Given the description of an element on the screen output the (x, y) to click on. 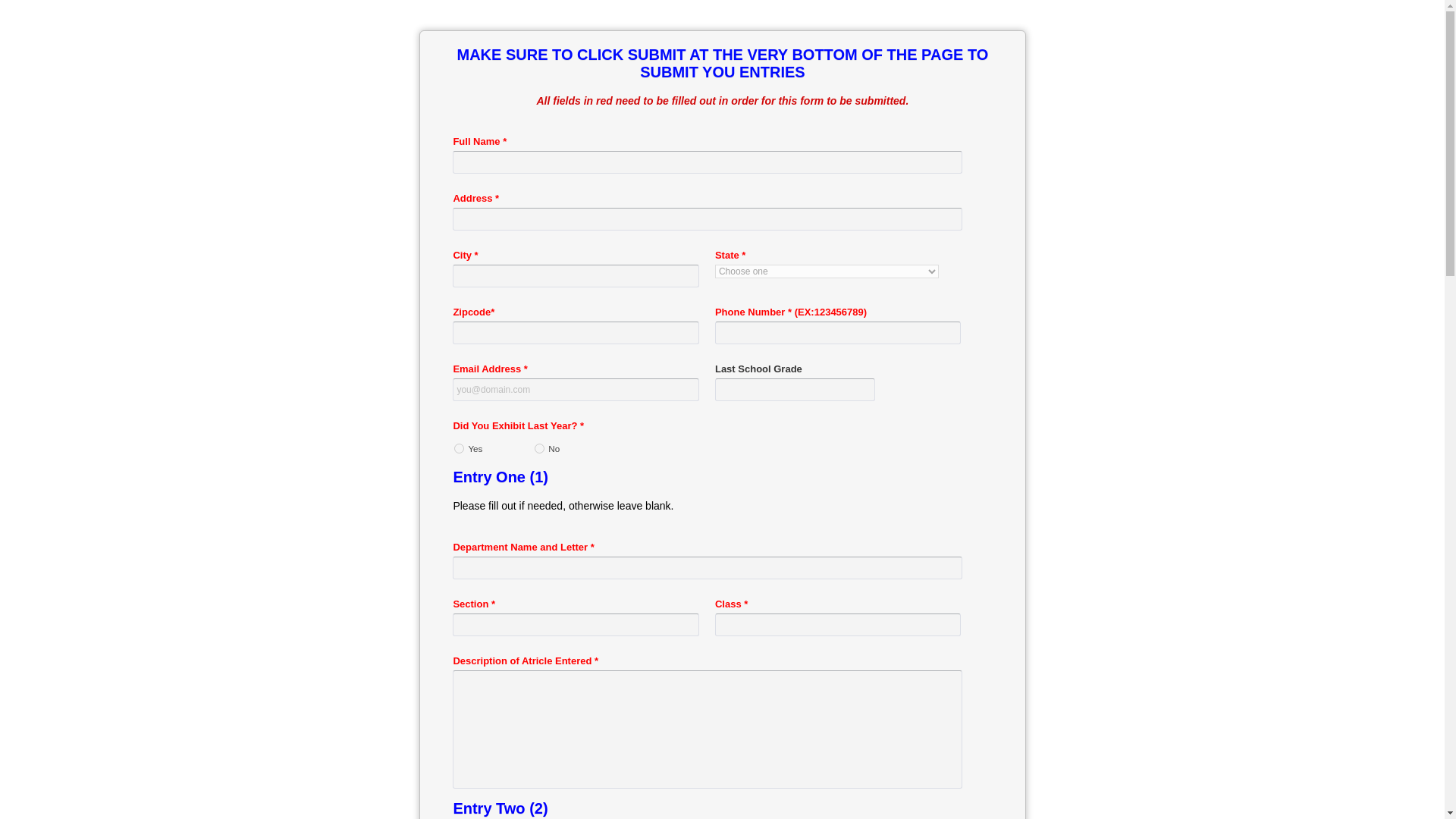
No (539, 448)
Yes (459, 448)
